Given the description of an element on the screen output the (x, y) to click on. 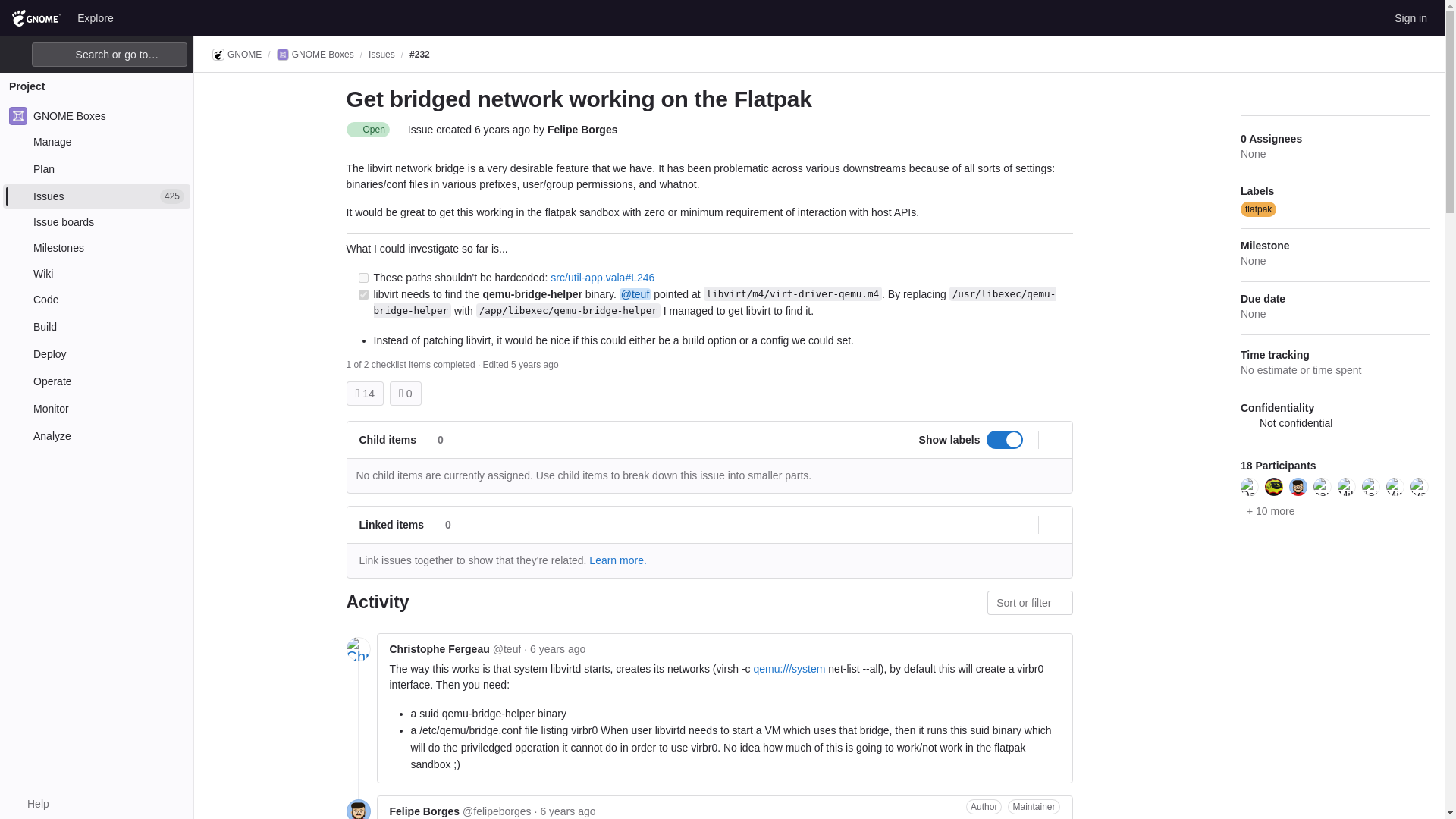
Build (96, 326)
Issue actions (1059, 98)
Sign in (1410, 17)
Manage (96, 141)
Code (96, 299)
Christophe Fergeau (635, 294)
Homepage (36, 17)
Milestones (96, 247)
